Given the description of an element on the screen output the (x, y) to click on. 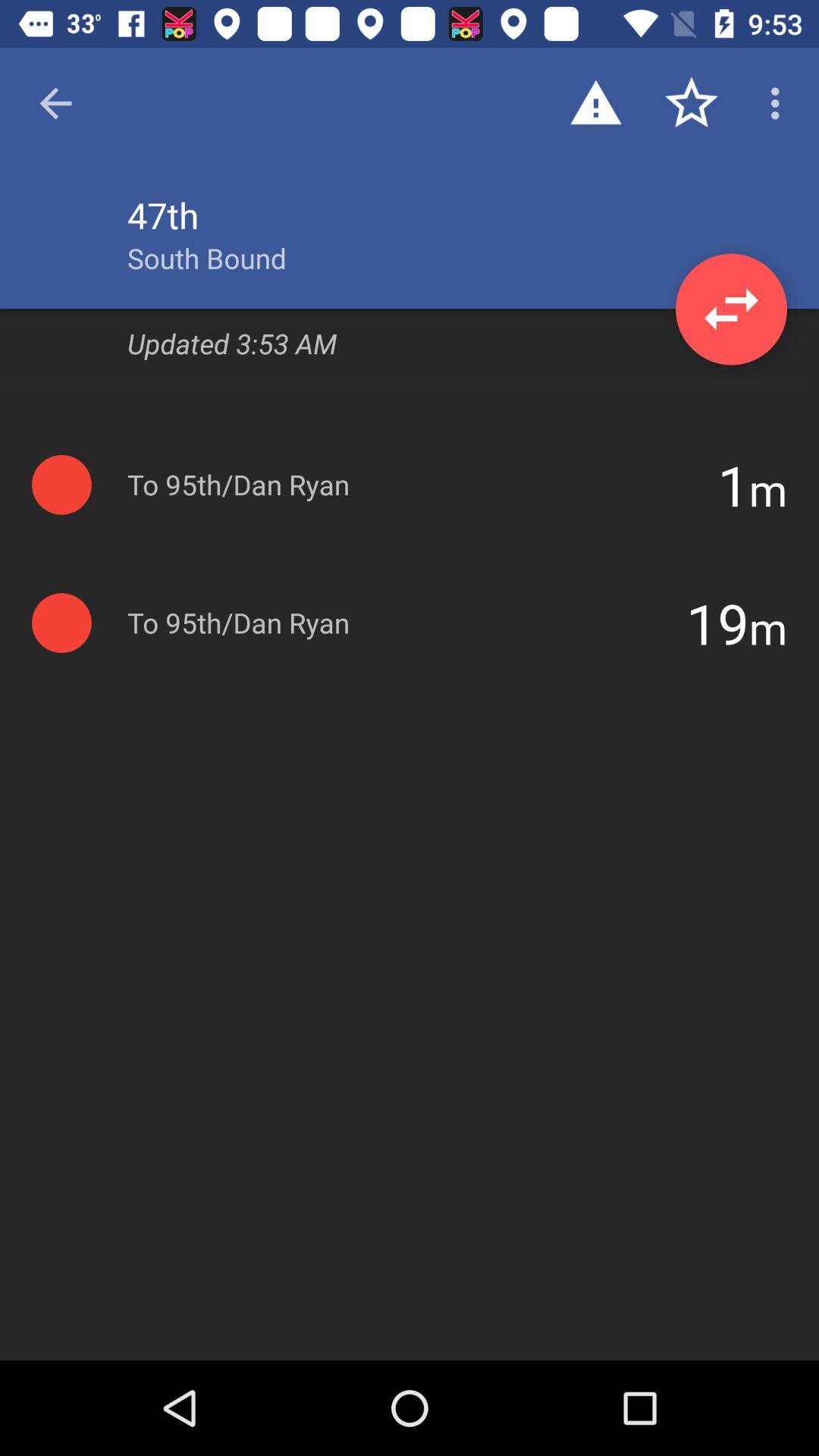
turn on the item next to the south bound icon (731, 309)
